Given the description of an element on the screen output the (x, y) to click on. 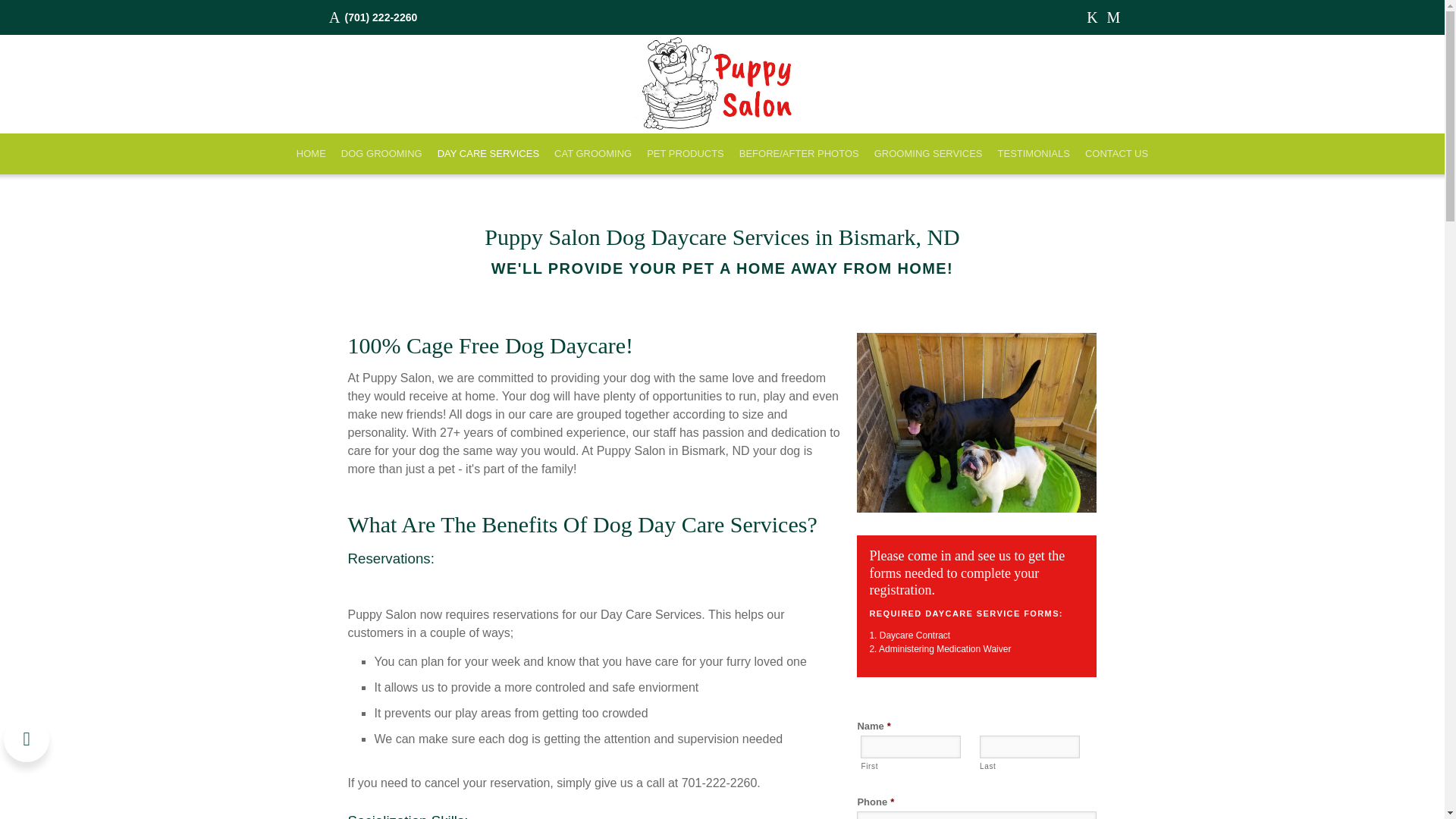
CONTACT US (1116, 153)
GROOMING SERVICES (928, 153)
HOME (310, 153)
www.google.com (1113, 17)
TESTIMONIALS (1033, 153)
DOG GROOMING (381, 153)
Facebook (1091, 17)
PET PRODUCTS (685, 153)
DAY CARE SERVICES (488, 153)
CAT GROOMING (593, 153)
